Given the description of an element on the screen output the (x, y) to click on. 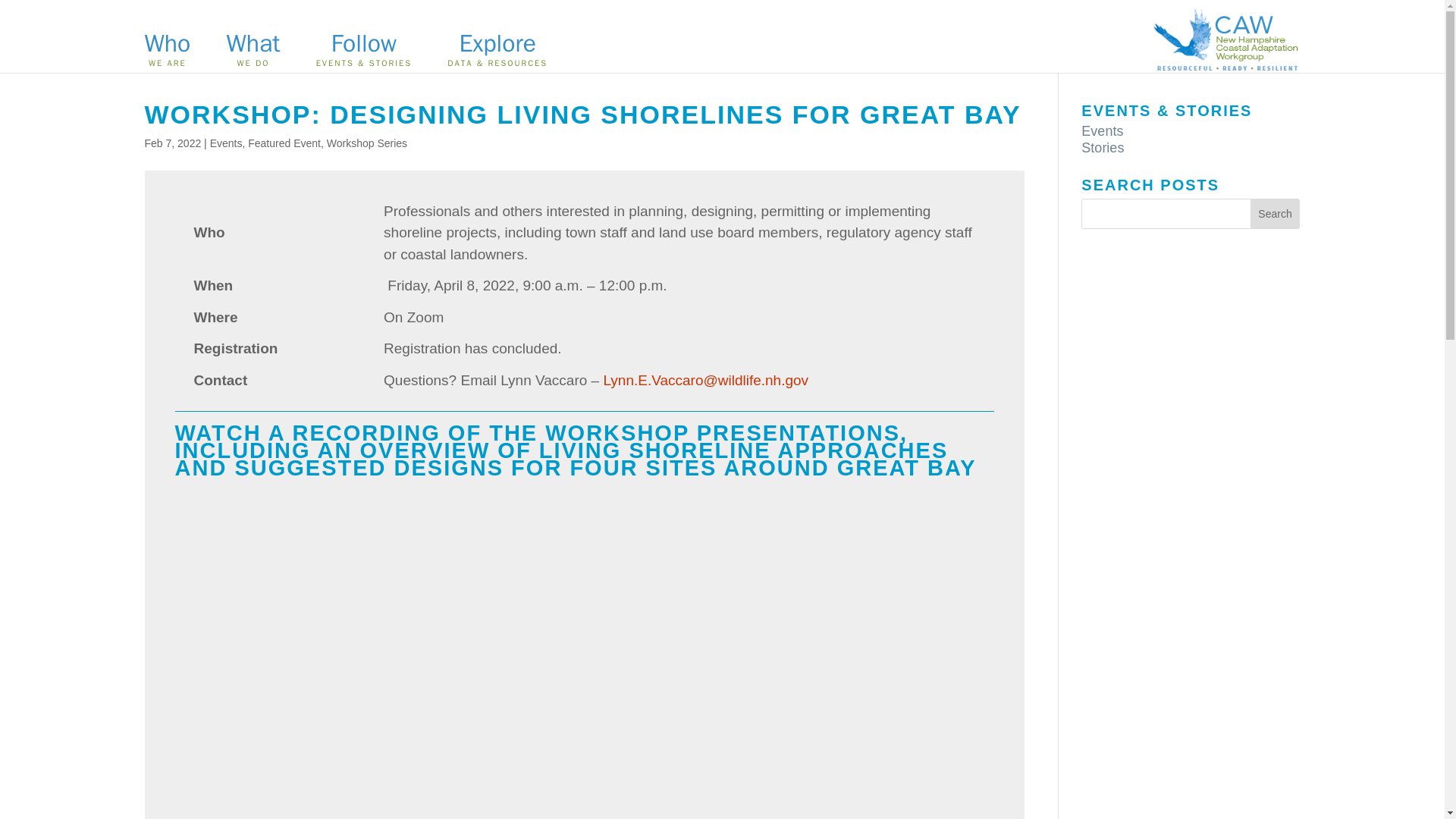
Search (1275, 214)
